Given the description of an element on the screen output the (x, y) to click on. 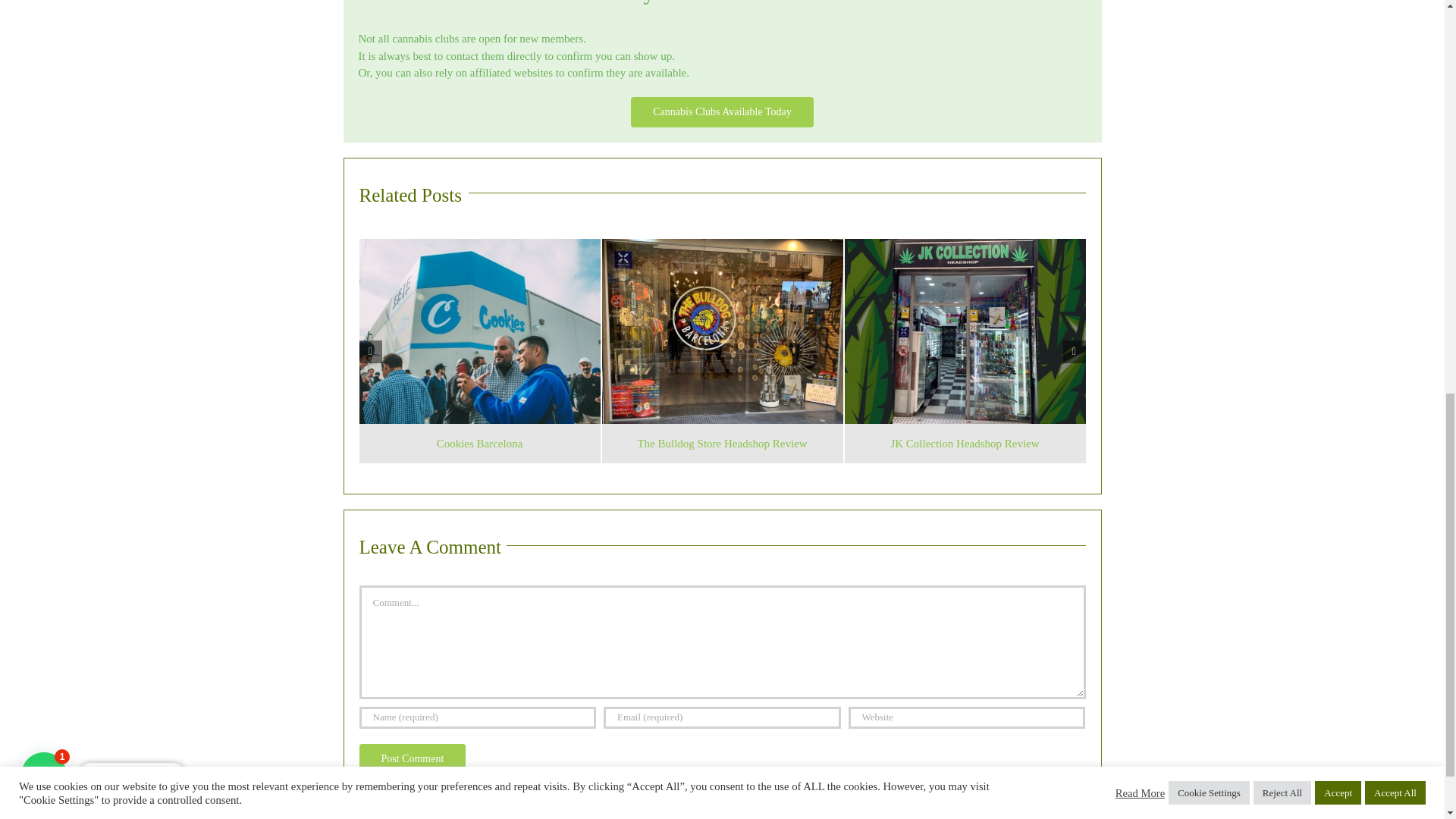
JK Collection Headshop Review (964, 443)
Post Comment (412, 757)
Cookies Barcelona (479, 443)
The Bulldog Store Headshop Review (721, 443)
